Given the description of an element on the screen output the (x, y) to click on. 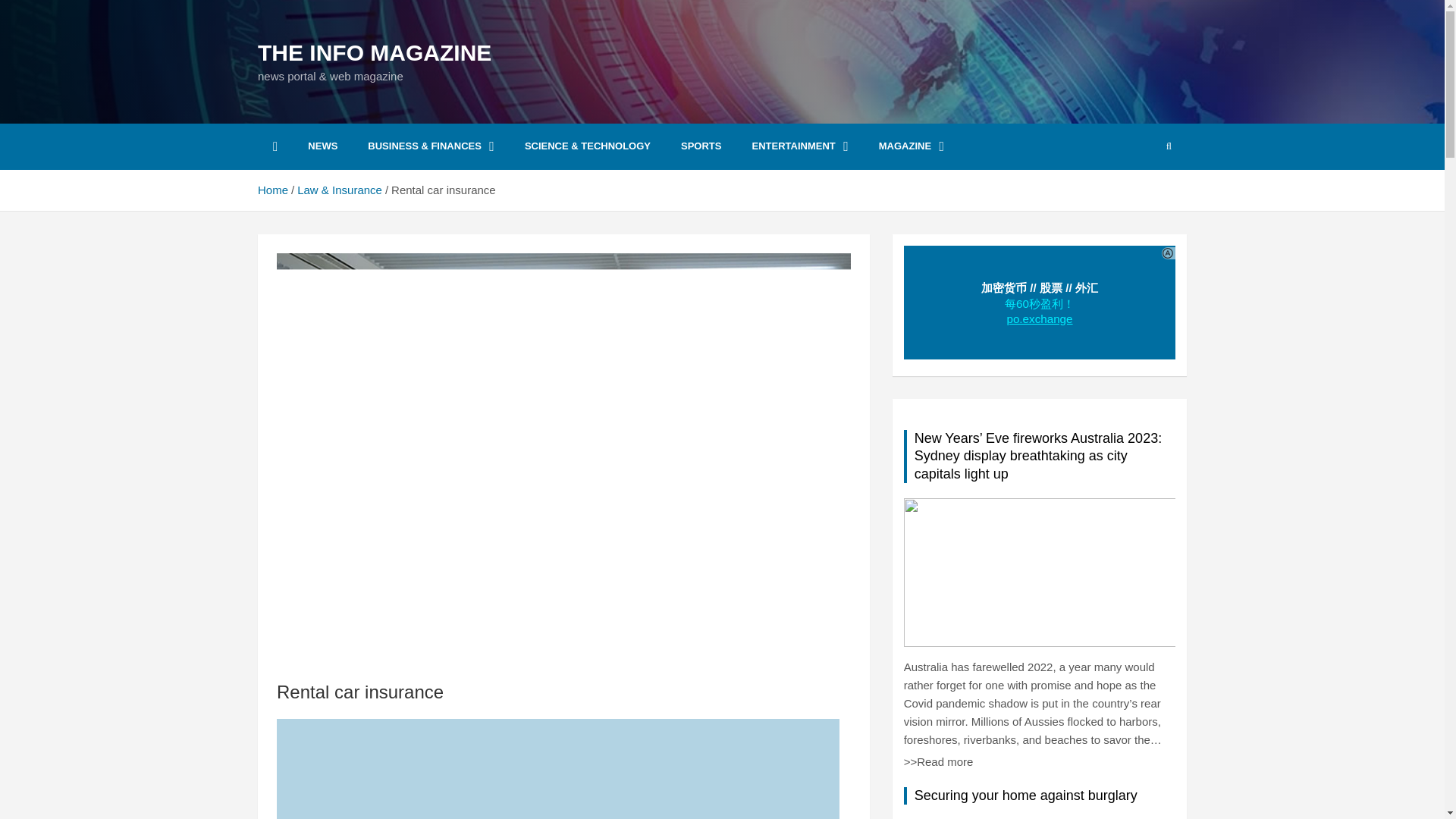
NEWS (322, 146)
THE INFO MAGAZINE (374, 52)
SPORTS (700, 146)
Advertisement (558, 769)
MAGAZINE (911, 146)
ENTERTAINMENT (799, 146)
Home (272, 189)
